Given the description of an element on the screen output the (x, y) to click on. 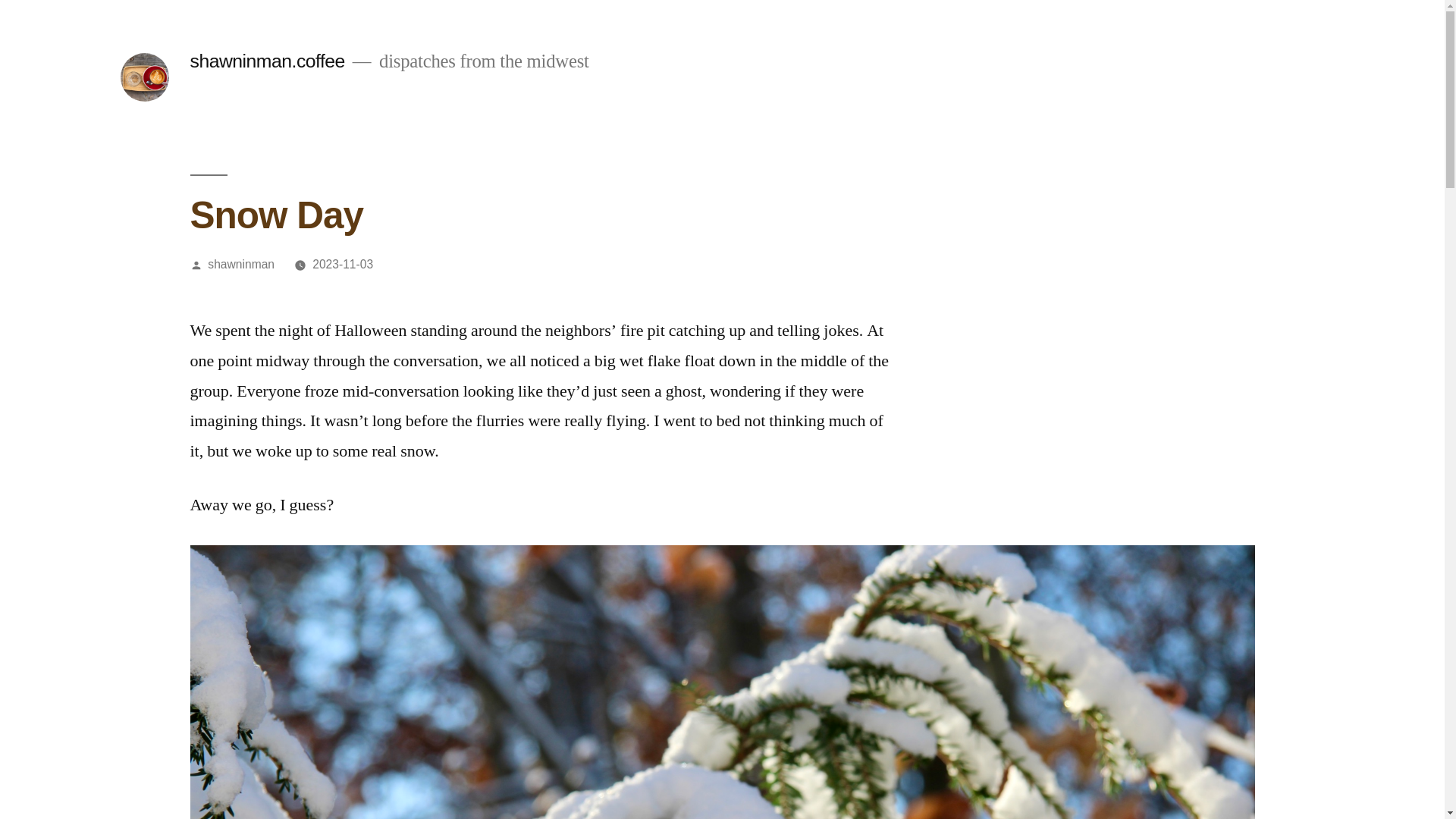
2023-11-03 (342, 264)
shawninman.coffee (266, 60)
shawninman (241, 264)
